Given the description of an element on the screen output the (x, y) to click on. 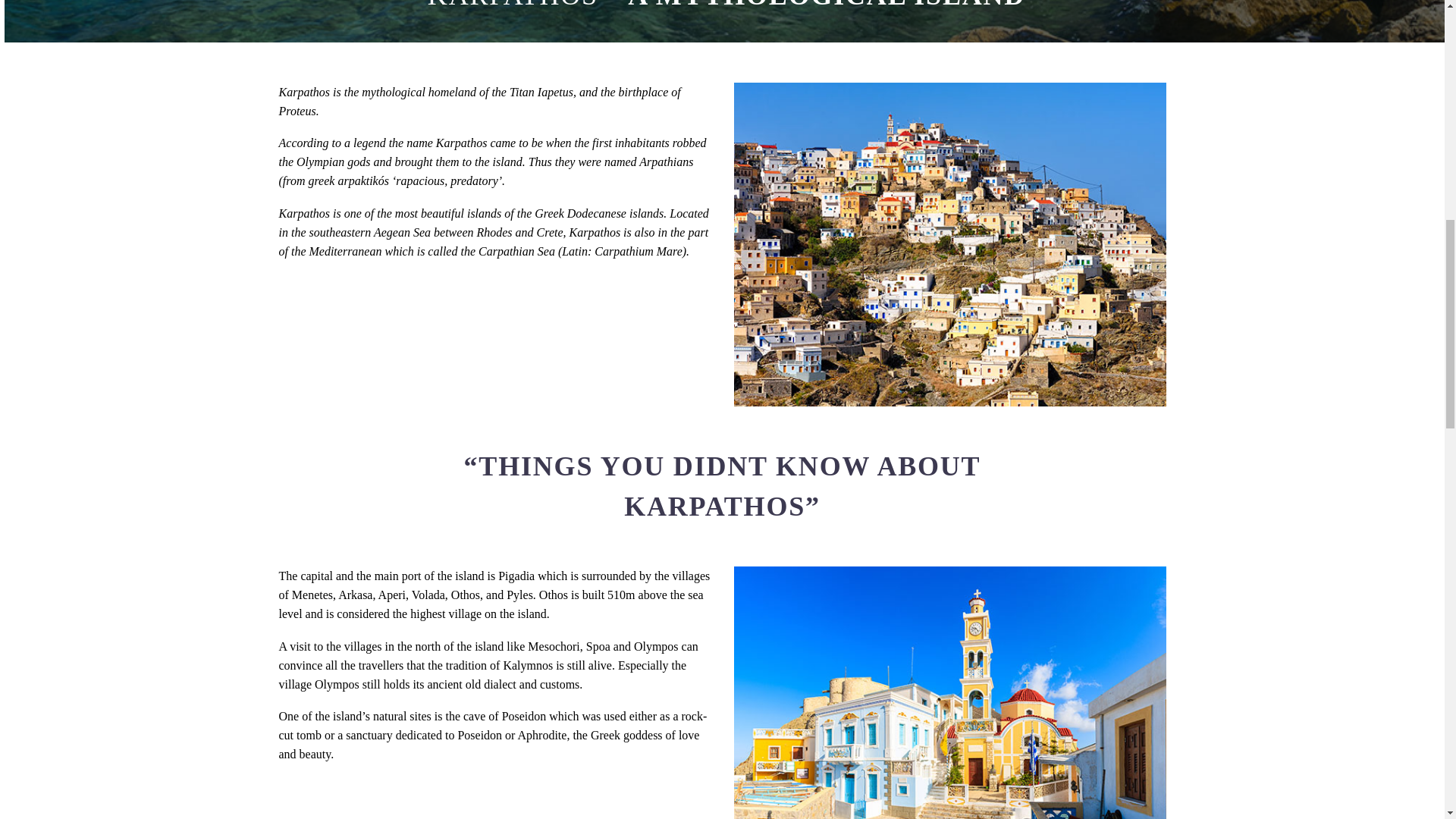
karpathos-destinations-airlift (949, 692)
